Given the description of an element on the screen output the (x, y) to click on. 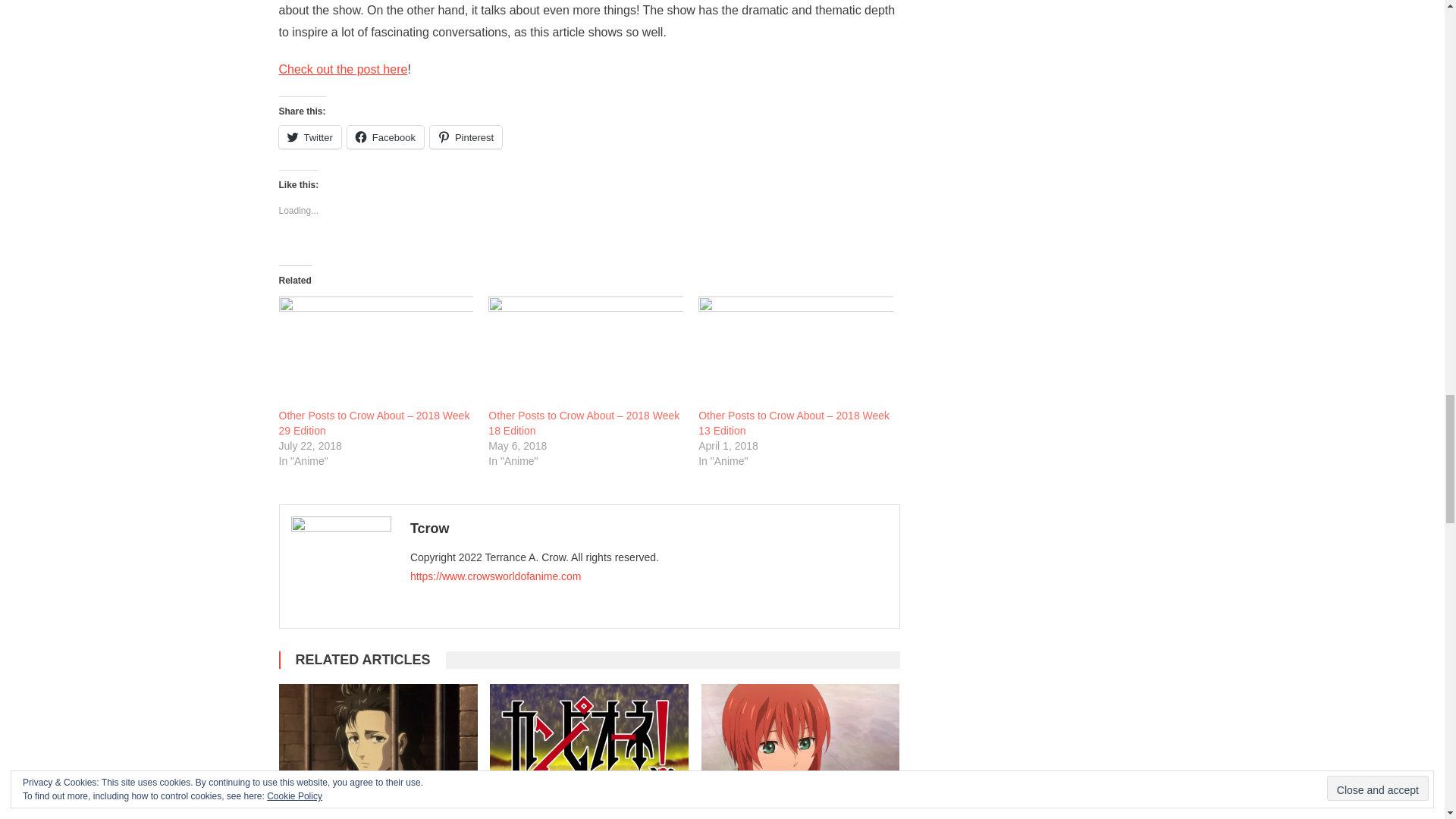
Click to share on Twitter (309, 137)
Caw Out Award: Most Endearing Character Insight in Hair Form (378, 745)
Click to share on Pinterest (465, 137)
Click to share on Facebook (385, 137)
